Given the description of an element on the screen output the (x, y) to click on. 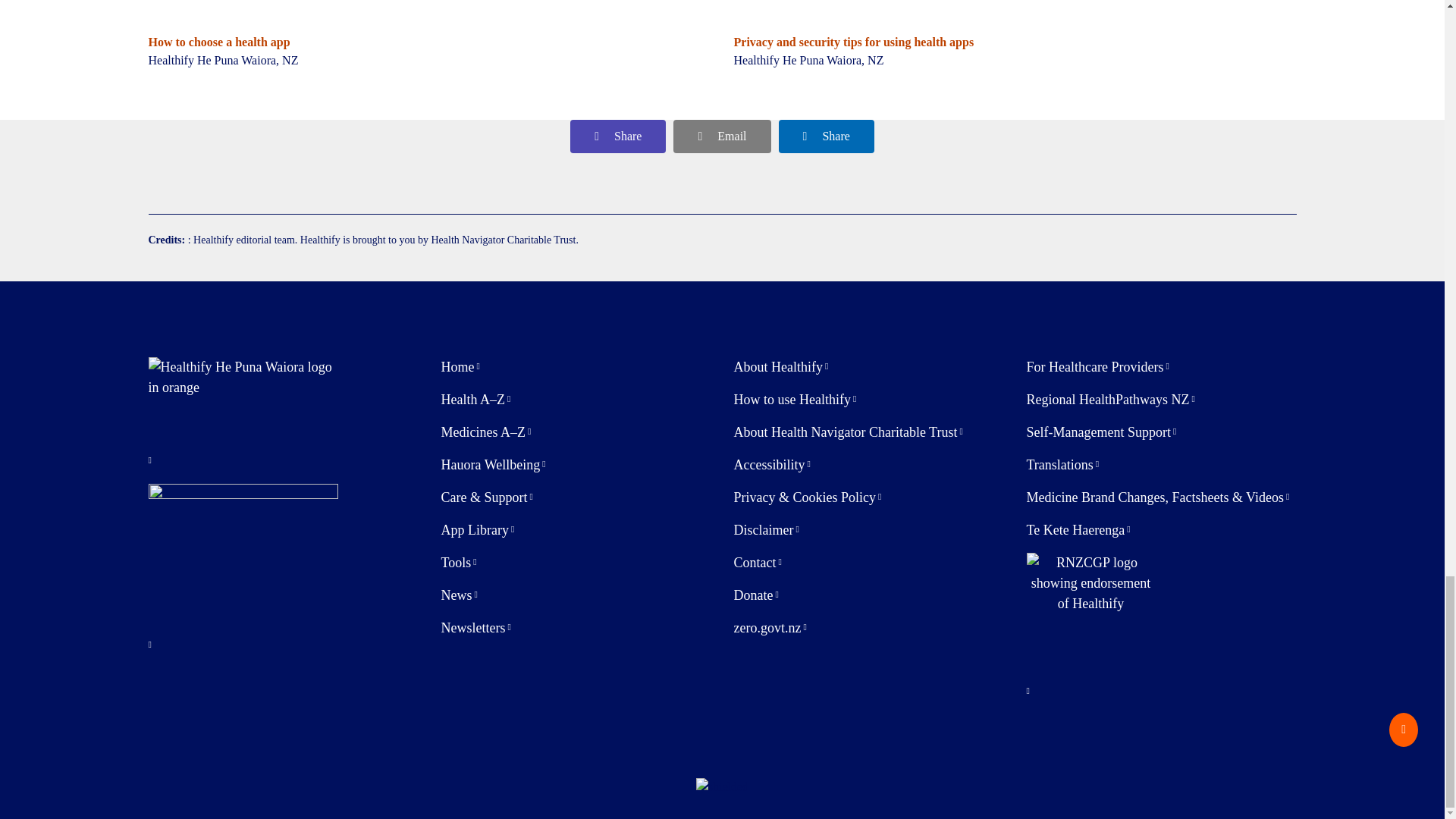
How to use the Healthify He Puna Waiora website (795, 399)
Zero data link (769, 628)
Sign up to our Healthify newsletters (476, 628)
